Given the description of an element on the screen output the (x, y) to click on. 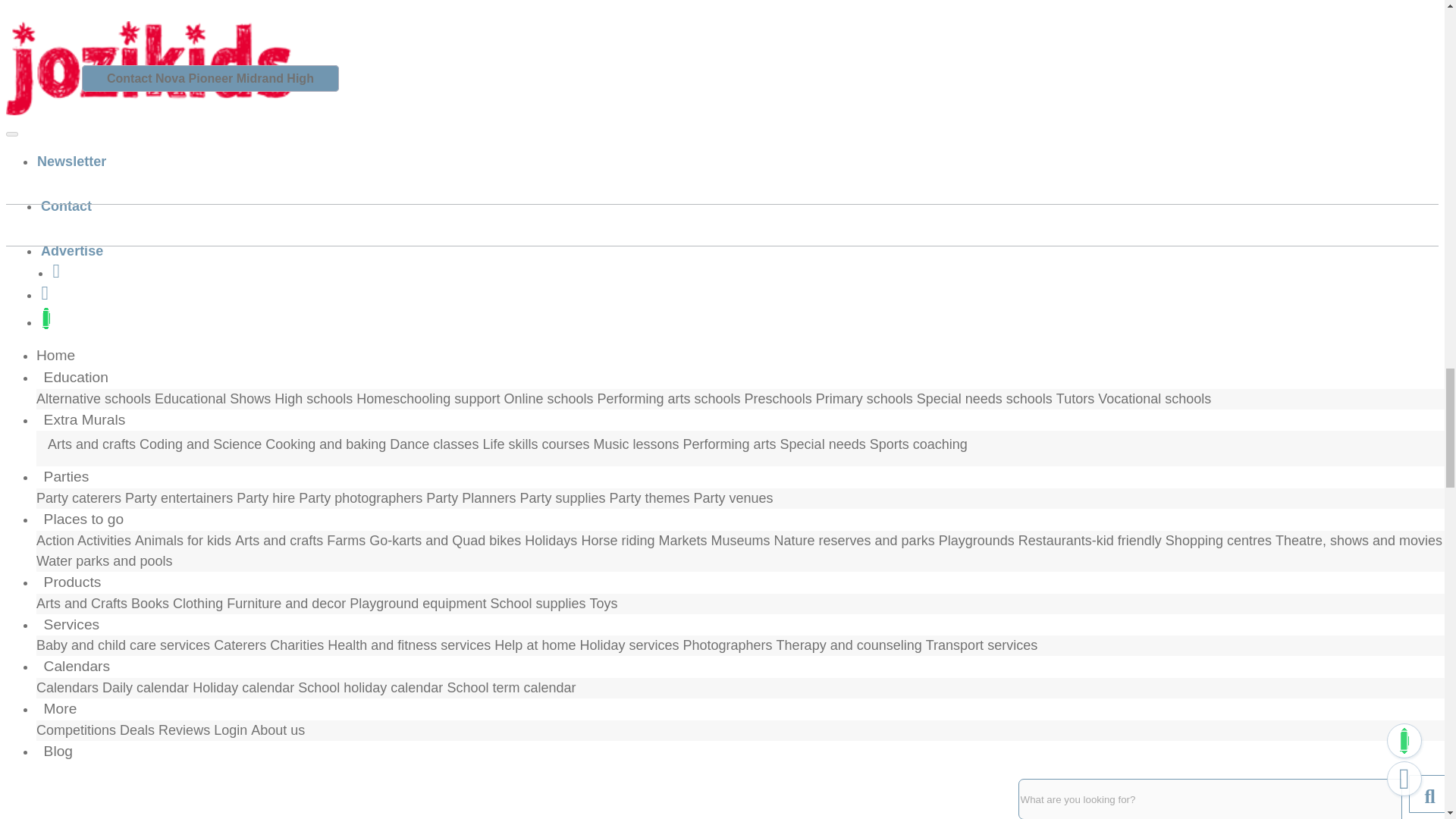
3rd party ad content (118, 575)
3rd party ad content (118, 360)
3rd party ad content (118, 758)
